Given the description of an element on the screen output the (x, y) to click on. 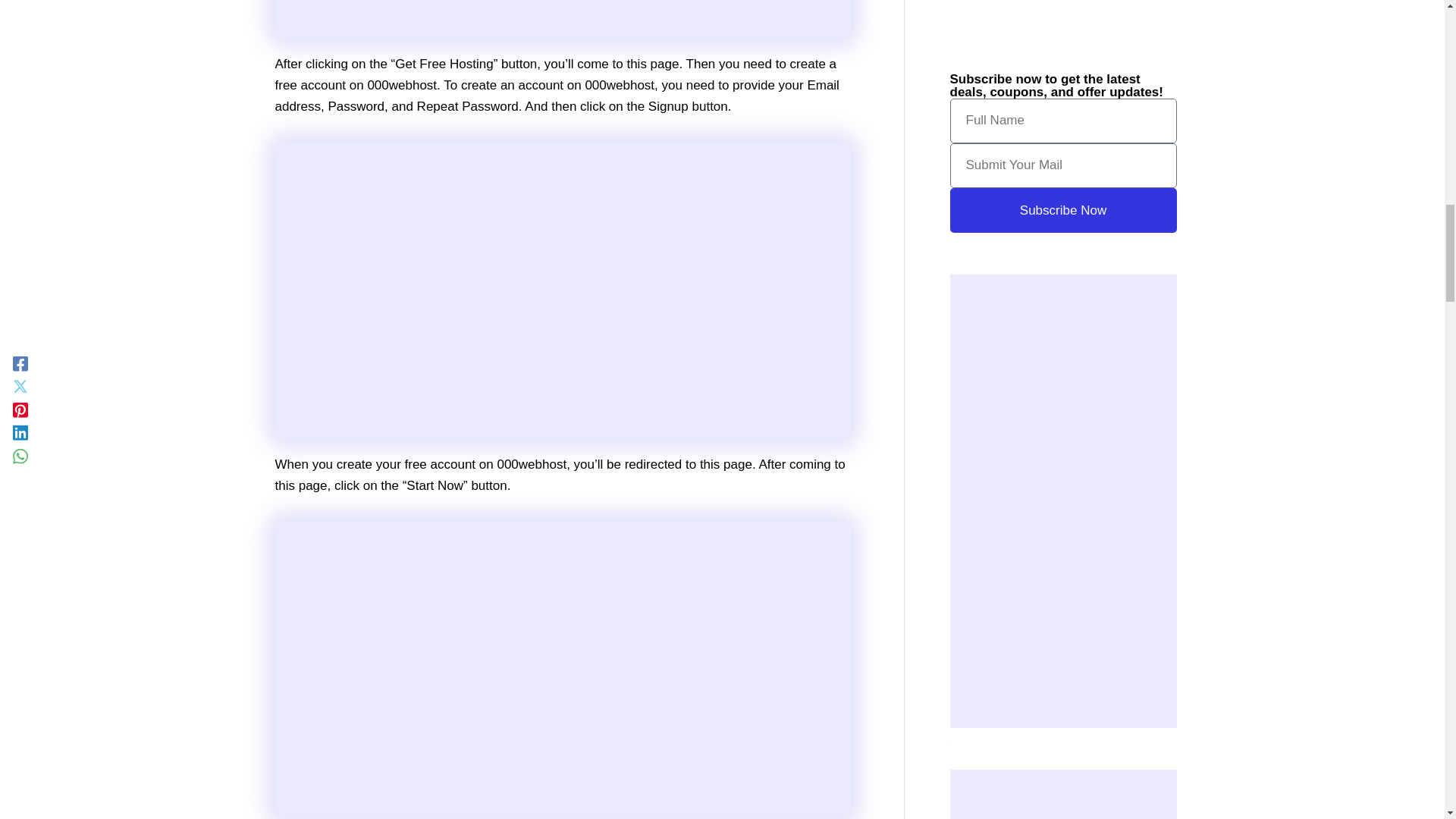
How To Get FREE Hosting On Hostinger (562, 18)
